Given the description of an element on the screen output the (x, y) to click on. 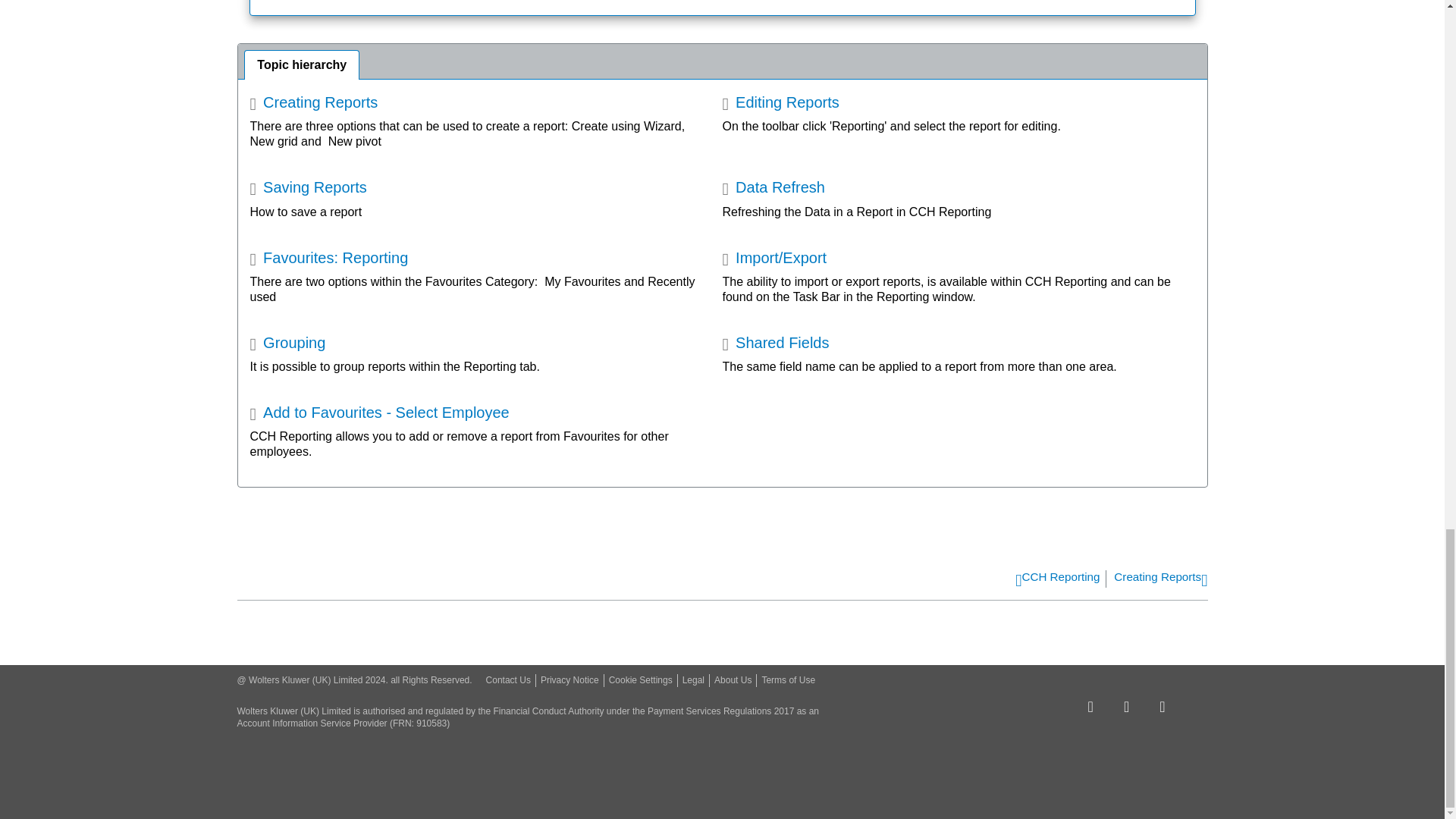
Topic hierarchy (722, 61)
Topic hierarchy (722, 61)
Data Refresh (773, 188)
Editing Reports (780, 103)
Data Refresh (773, 188)
Favourites: Reporting (329, 259)
Topic hierarchy (301, 64)
Note (721, 7)
Favourites: Reporting (329, 259)
Saving Reports (308, 188)
Creating Reports (314, 103)
Editing Reports (780, 103)
Creating Reports (314, 103)
Saving Reports (308, 188)
